Given the description of an element on the screen output the (x, y) to click on. 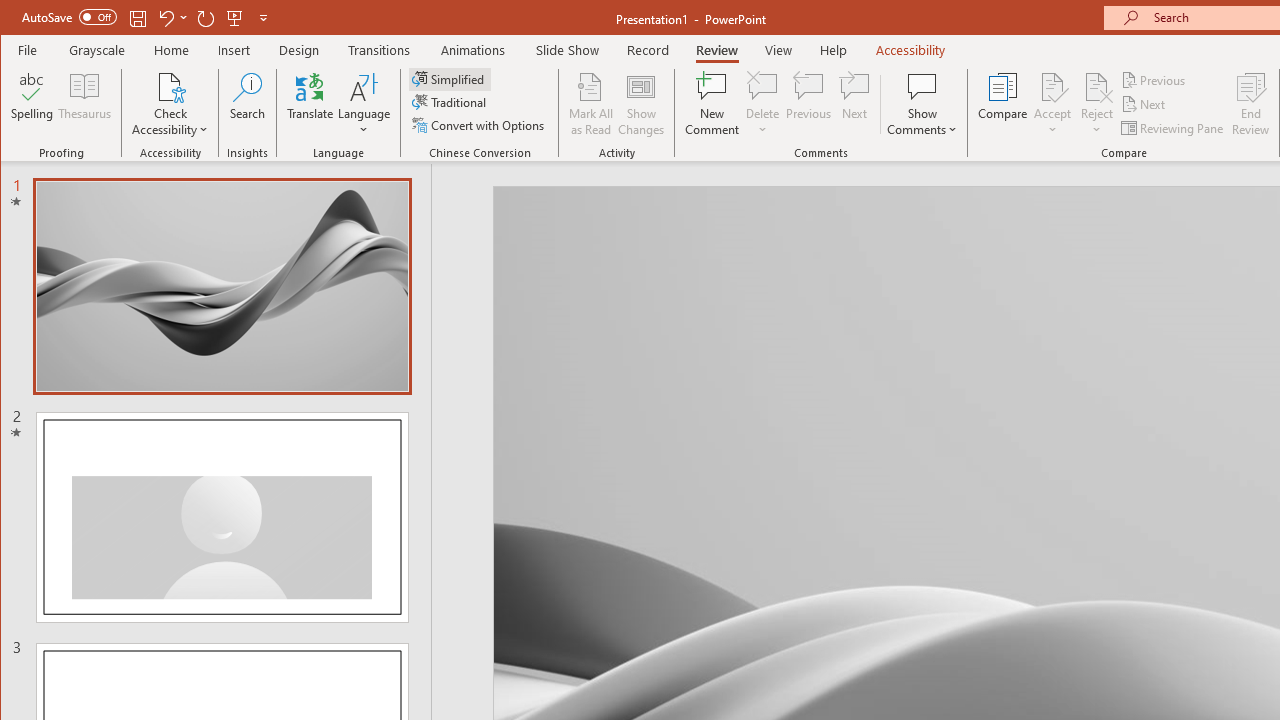
Accept Change (1052, 86)
New Comment (712, 104)
Thesaurus... (84, 104)
Compare (1002, 104)
End Review (1251, 104)
Mark All as Read (591, 104)
